Given the description of an element on the screen output the (x, y) to click on. 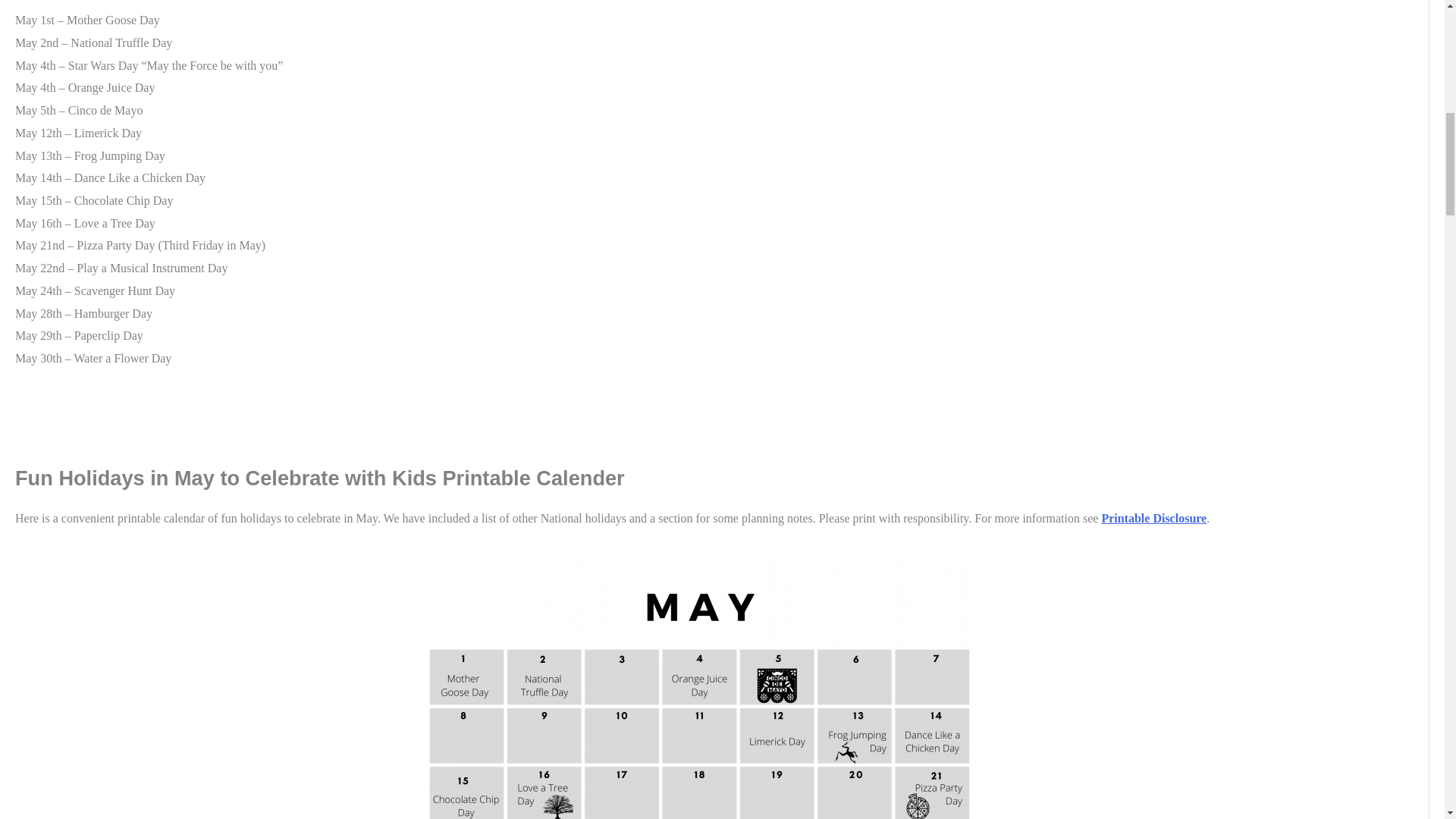
Printable Disclosure (1153, 517)
